Given the description of an element on the screen output the (x, y) to click on. 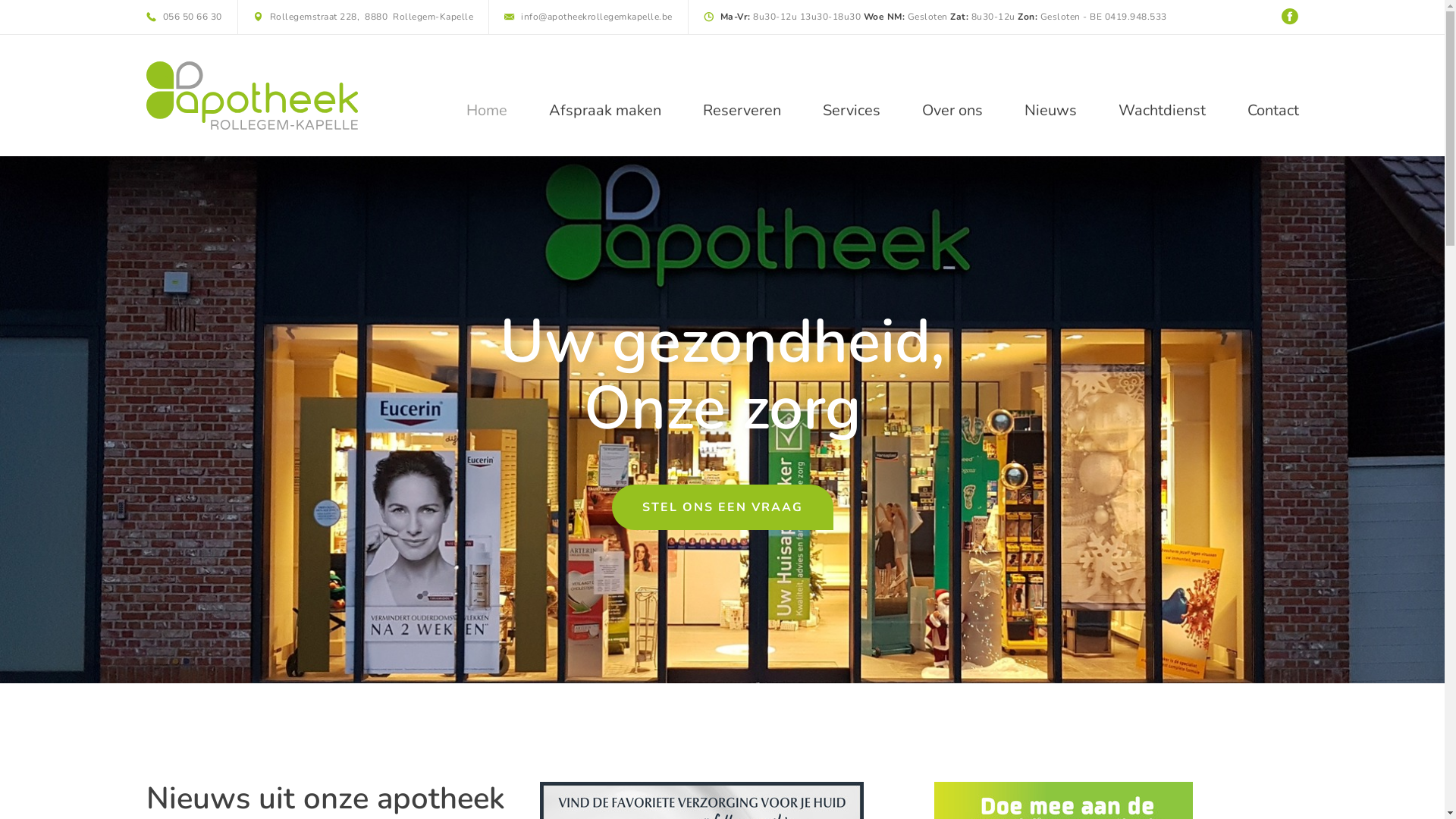
Wachtdienst Element type: text (1160, 110)
STEL ONS EEN VRAAG Element type: text (721, 507)
Services Element type: text (850, 110)
Stel ons een vraag Element type: hover (722, 419)
Reserveren Element type: text (741, 110)
056 50 66 30 Element type: text (183, 16)
Contact Element type: text (1272, 110)
info@apotheekrollegemkapelle.be Element type: text (588, 16)
Home Element type: text (485, 110)
Rollegemstraat 228,  8880  Rollegem-Kapelle Element type: text (363, 16)
Over ons Element type: text (952, 110)
Afspraak maken Element type: text (605, 110)
Nieuws Element type: text (1049, 110)
